Given the description of an element on the screen output the (x, y) to click on. 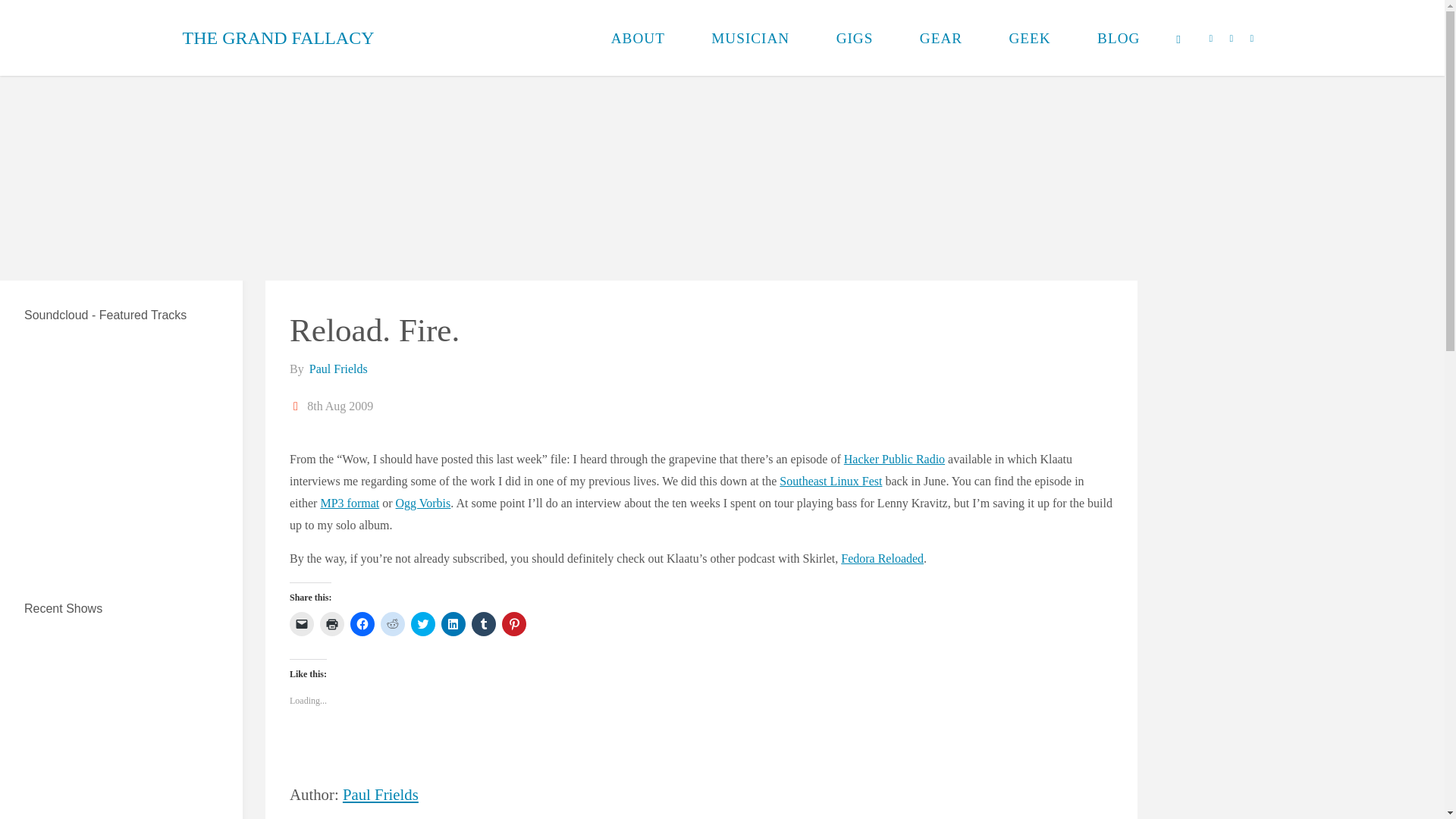
Hacker Public Radio (894, 459)
Click to share on Reddit (392, 623)
GEAR (940, 38)
MP3 format (349, 502)
Ogg Vorbis (423, 502)
Click to share on Twitter (422, 623)
BLOG (1118, 38)
Click to share on Pinterest (513, 623)
THE GRAND FALLACY (278, 37)
Southeast Linux Fest (830, 481)
GIGS (854, 38)
GEEK (1029, 38)
ABOUT (638, 38)
Click to share on Tumblr (483, 623)
